Given the description of an element on the screen output the (x, y) to click on. 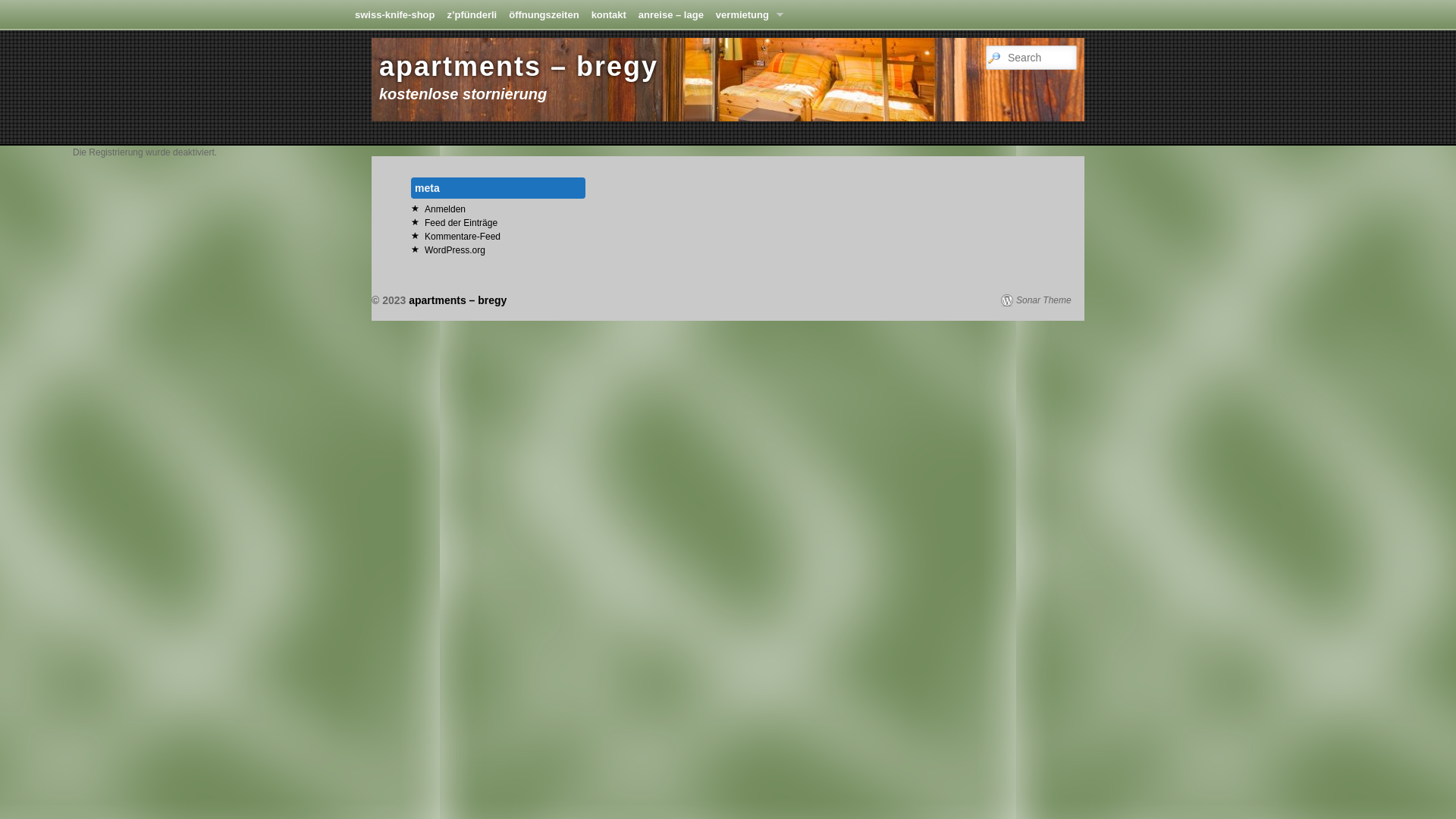
Anmelden Element type: text (444, 208)
Search Element type: text (20, 7)
kontakt Element type: text (608, 15)
swiss-knife-shop Element type: text (394, 15)
WordPress.org Element type: text (454, 249)
Sonar Theme Element type: text (1036, 300)
Kommentare-Feed Element type: text (462, 236)
